Given the description of an element on the screen output the (x, y) to click on. 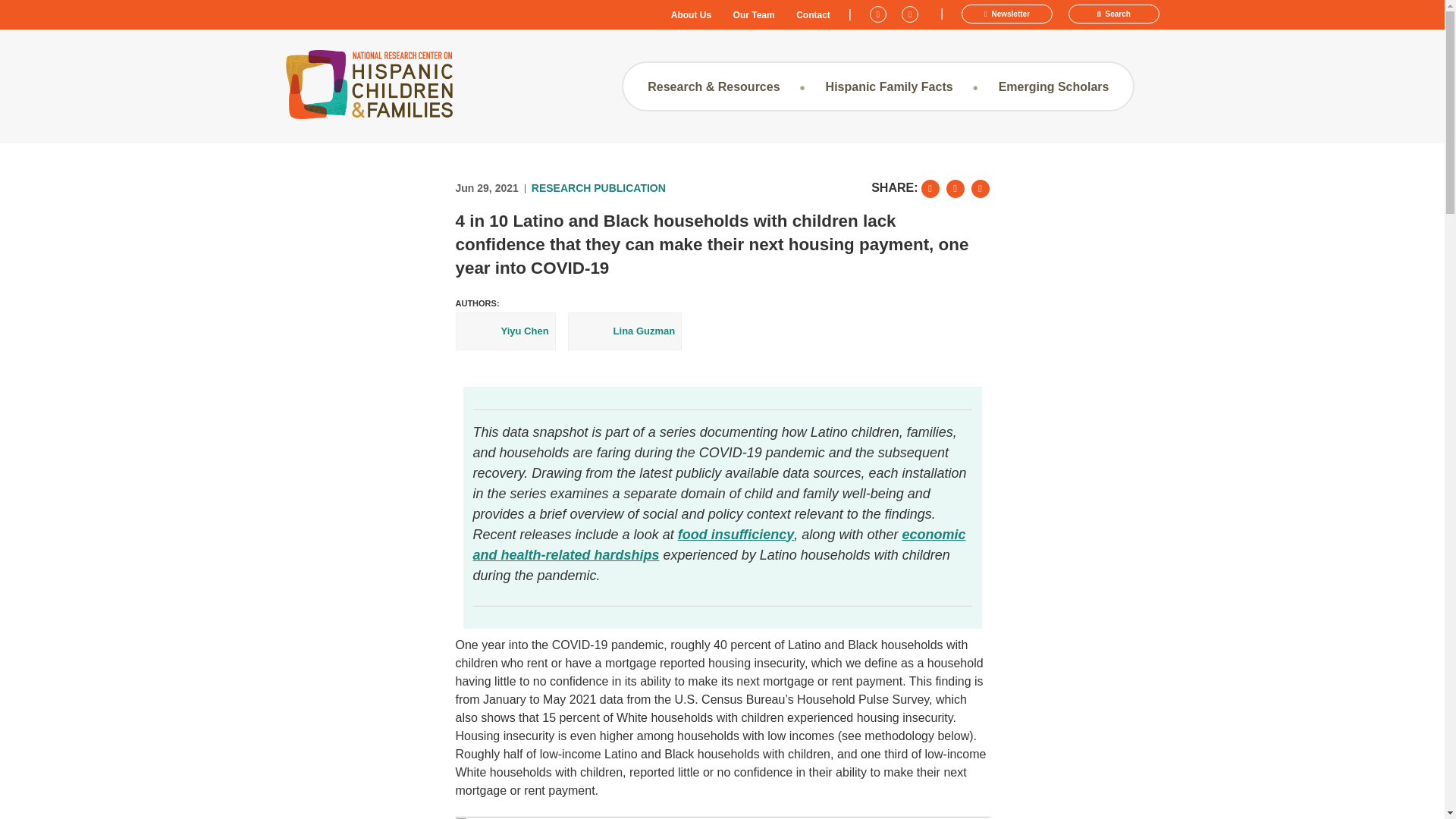
Contact (812, 14)
Click to toggle navigation menu. (524, 86)
Search (1112, 13)
food insufficiency (736, 534)
Print (979, 188)
Our Team (753, 14)
About Us (691, 14)
share on facebook (954, 188)
Emerging Scholars (1053, 87)
Hispanic Family Facts (889, 87)
Newsletter (1006, 13)
logo Created with Sketch. (368, 83)
Twitter (879, 12)
Yiyu Chen (504, 331)
Lina Guzman (624, 331)
